Given the description of an element on the screen output the (x, y) to click on. 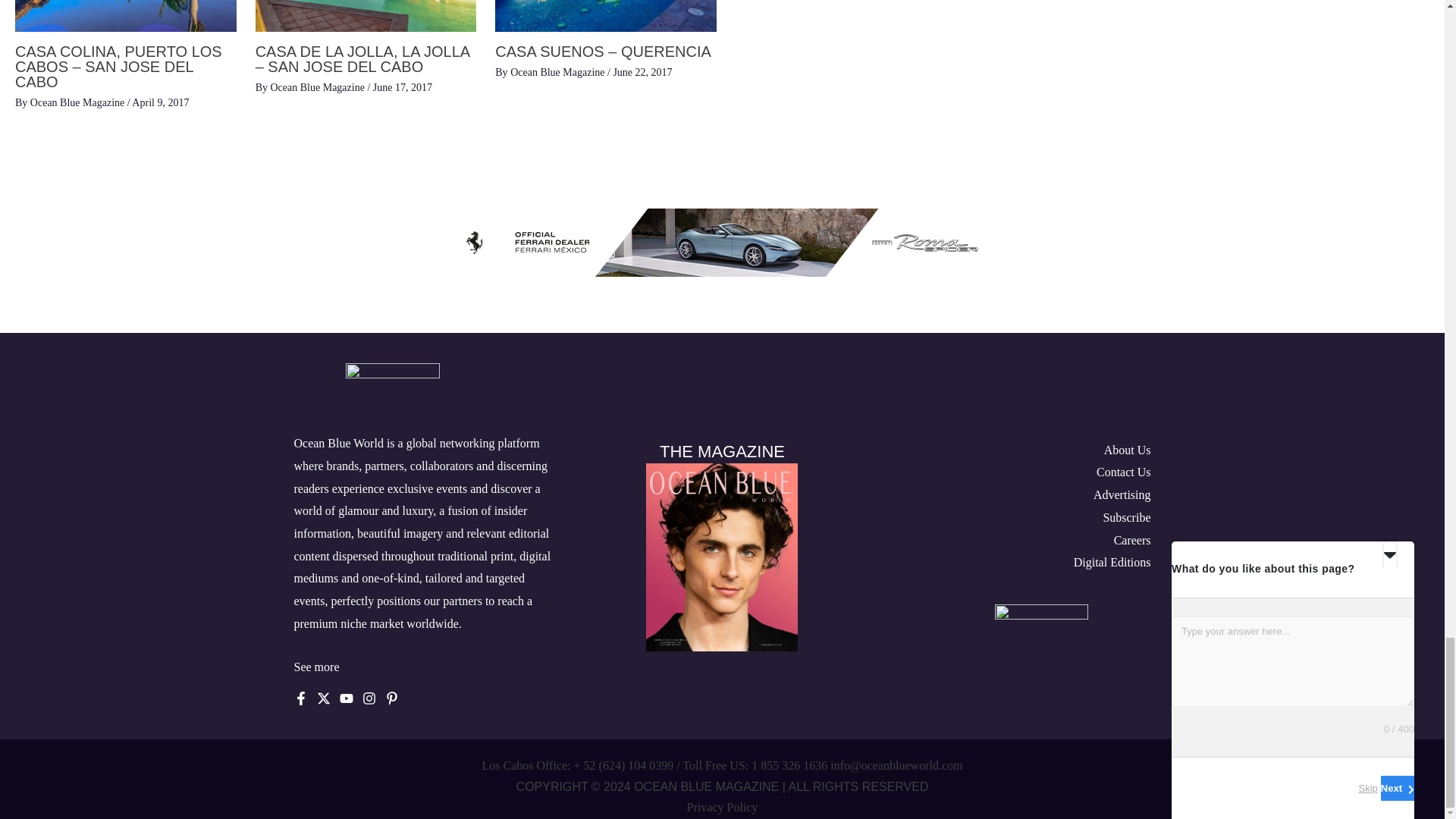
View all posts by Ocean Blue Magazine (559, 71)
View all posts by Ocean Blue Magazine (79, 102)
View all posts by Ocean Blue Magazine (317, 87)
